Given the description of an element on the screen output the (x, y) to click on. 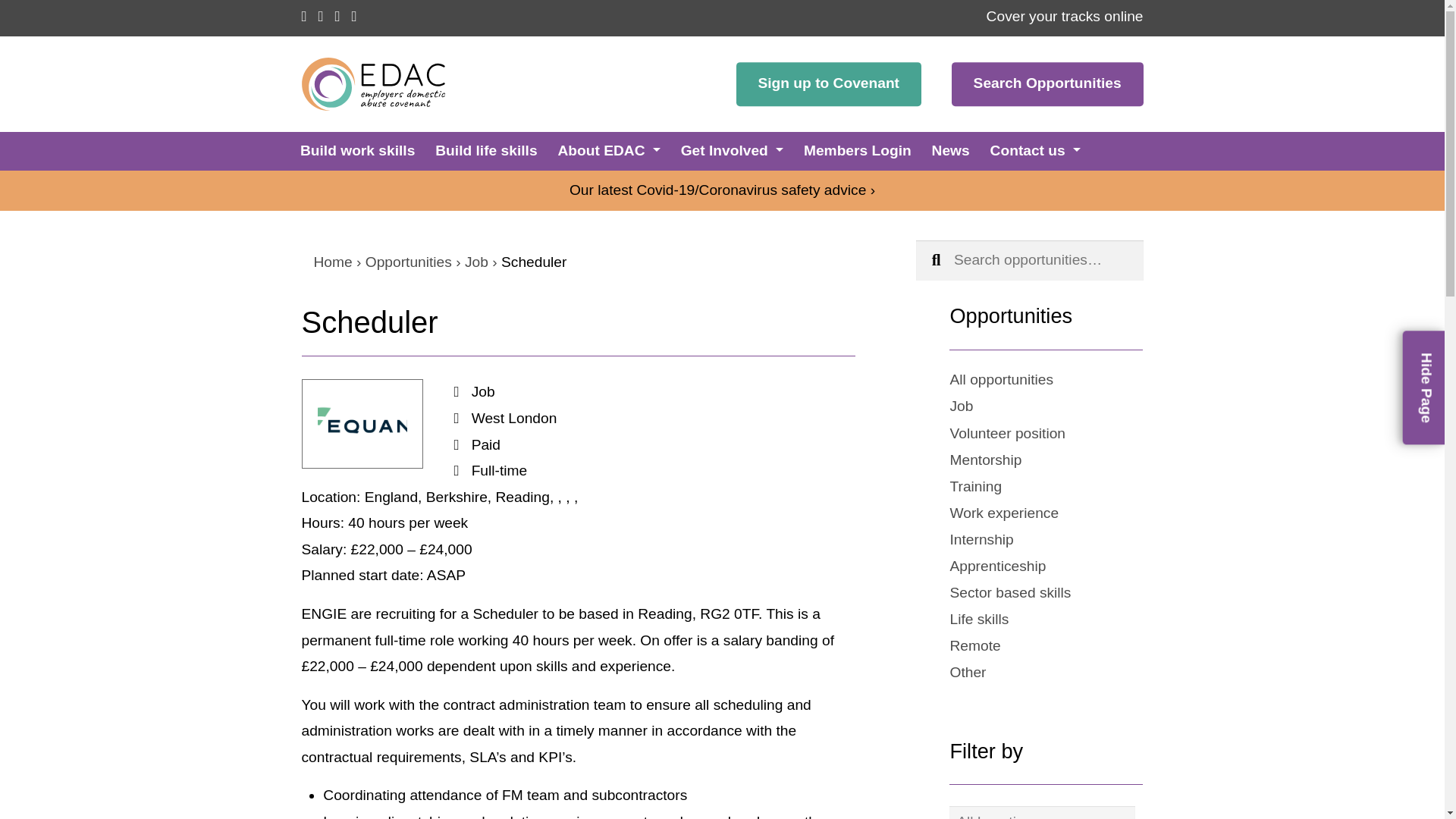
Get Involved (732, 150)
Build work skills (356, 150)
Cover your tracks online (1064, 16)
Build life skills (486, 150)
Get Involved (732, 150)
News (950, 150)
Sign up to Covenant (828, 84)
EDAC (376, 83)
Search Opportunities (1047, 84)
Build life skills (486, 150)
Home (333, 261)
Contact us (1035, 150)
About EDAC (608, 150)
West London (514, 417)
